Given the description of an element on the screen output the (x, y) to click on. 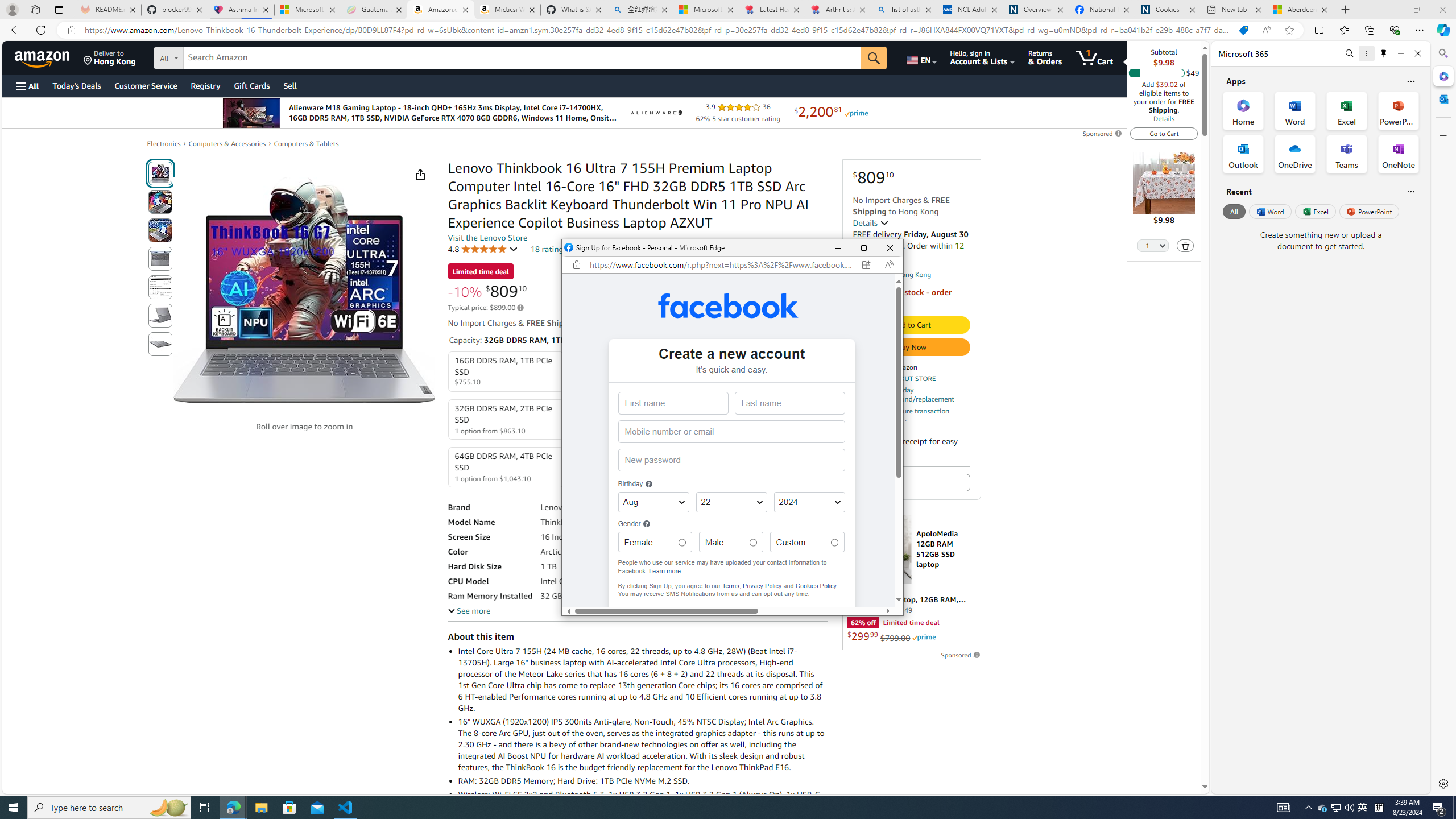
Amazon (43, 57)
Sign Up (731, 620)
Female (681, 542)
Registry (205, 85)
Home Office App (1362, 807)
